Given the description of an element on the screen output the (x, y) to click on. 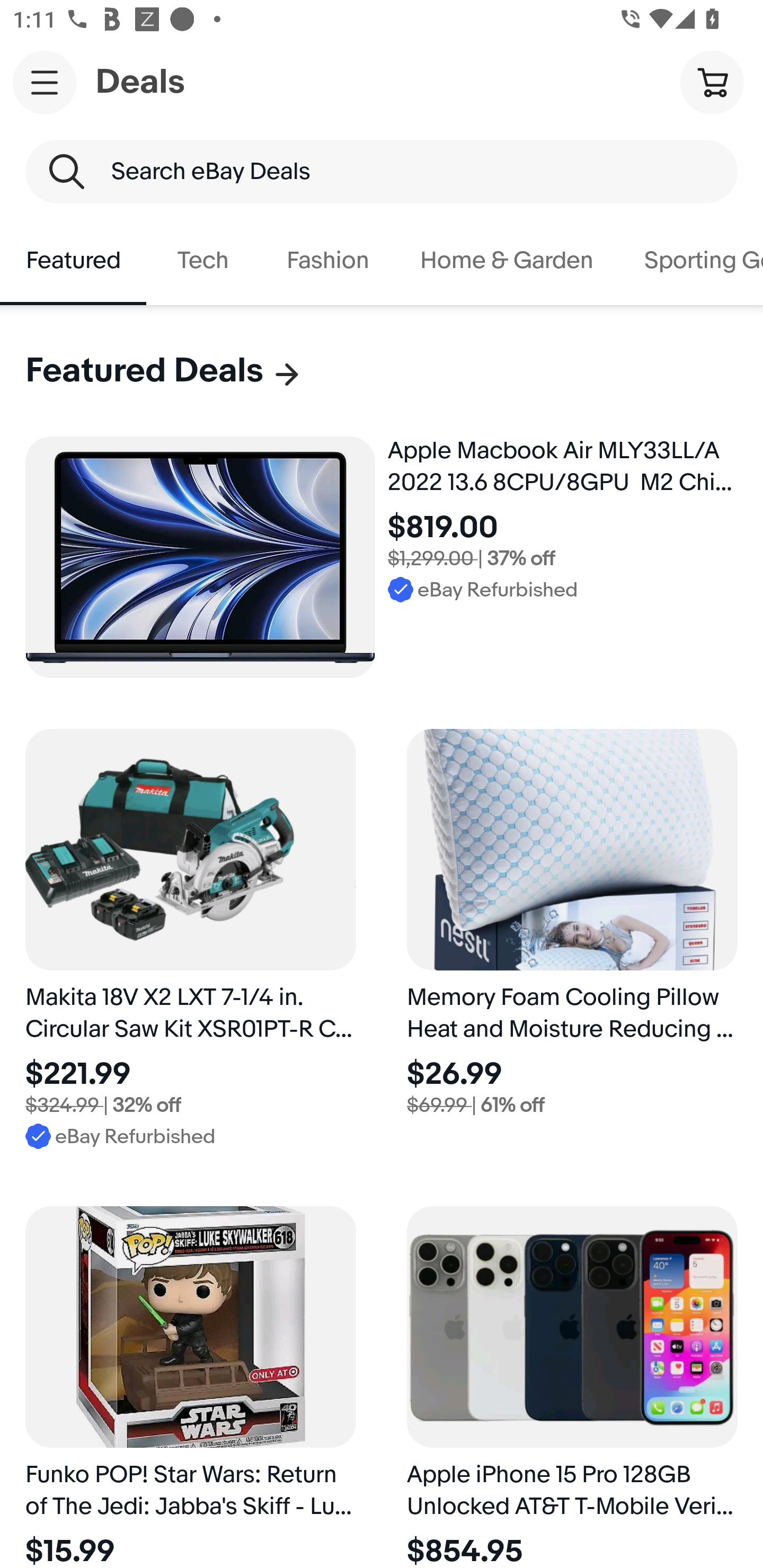
Main navigation, open (44, 82)
Cart button shopping cart (711, 81)
Search eBay Deals Search Keyword Search eBay Deals (381, 171)
Tech. Button. 2 of 7. Tech (203, 260)
Fashion. Button. 3 of 7. Fashion (327, 260)
Home & Garden. Button. 4 of 7. Home & Garden (506, 260)
Featured Deals   Featured Deals,7 items (163, 370)
